Given the description of an element on the screen output the (x, y) to click on. 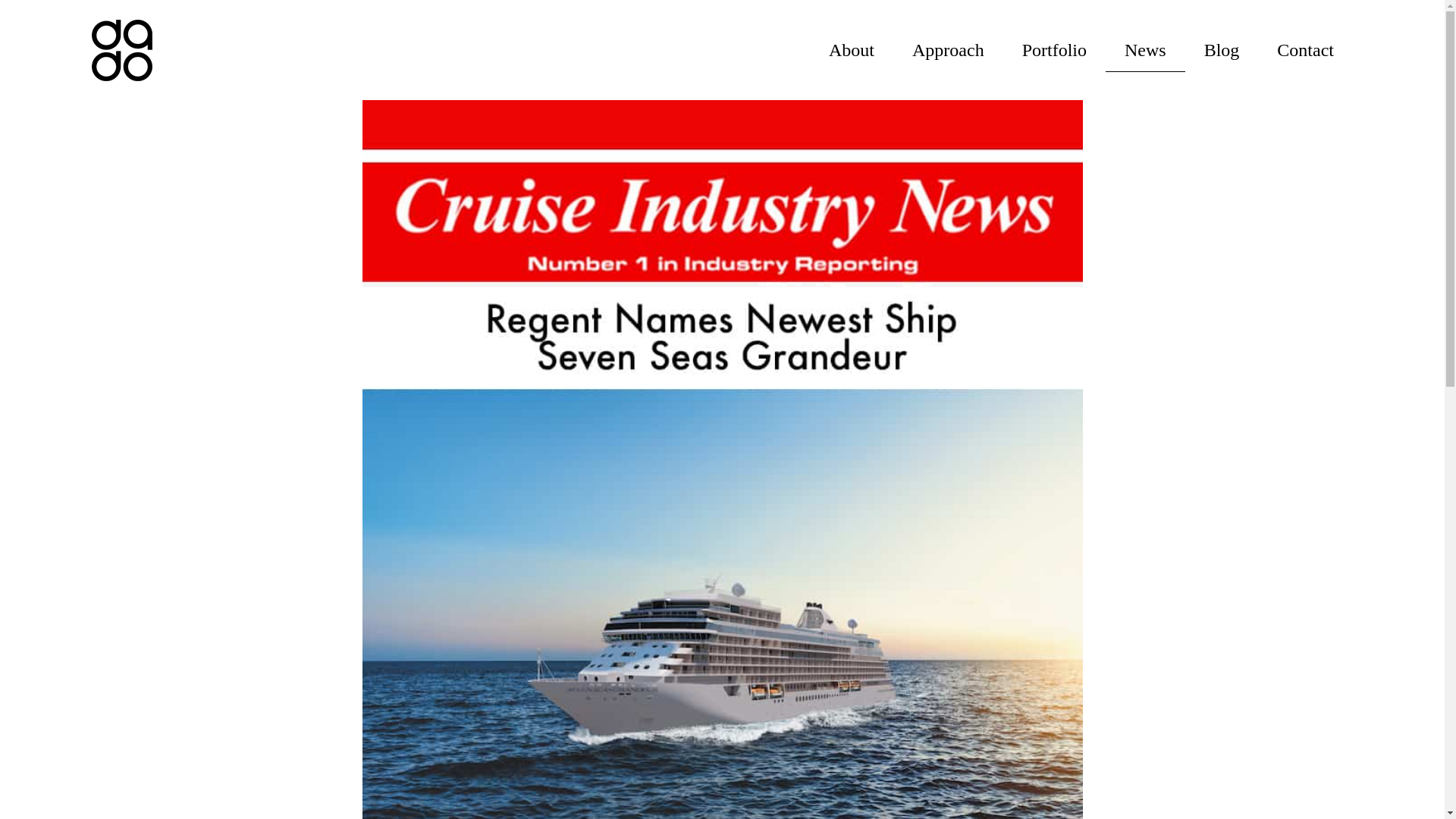
News (1145, 50)
Portfolio (1054, 49)
Blog (1222, 49)
Contact (1304, 49)
About (851, 49)
Approach (948, 49)
